Given the description of an element on the screen output the (x, y) to click on. 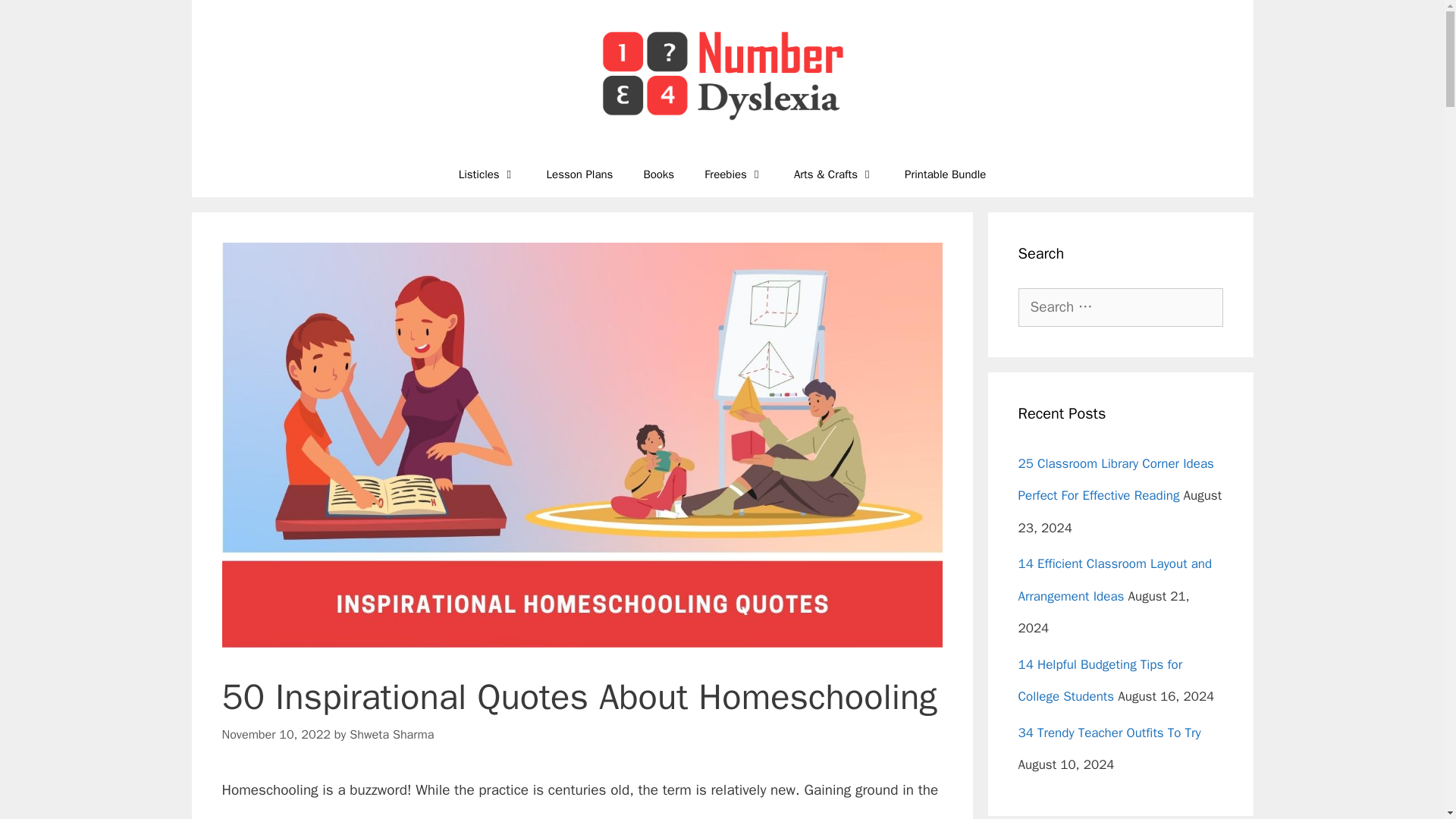
Books (657, 174)
Shweta Sharma (391, 734)
Listicles (487, 174)
Printable Bundle (945, 174)
Lesson Plans (579, 174)
Freebies (733, 174)
Search for: (1120, 307)
View all posts by Shweta Sharma (391, 734)
